Given the description of an element on the screen output the (x, y) to click on. 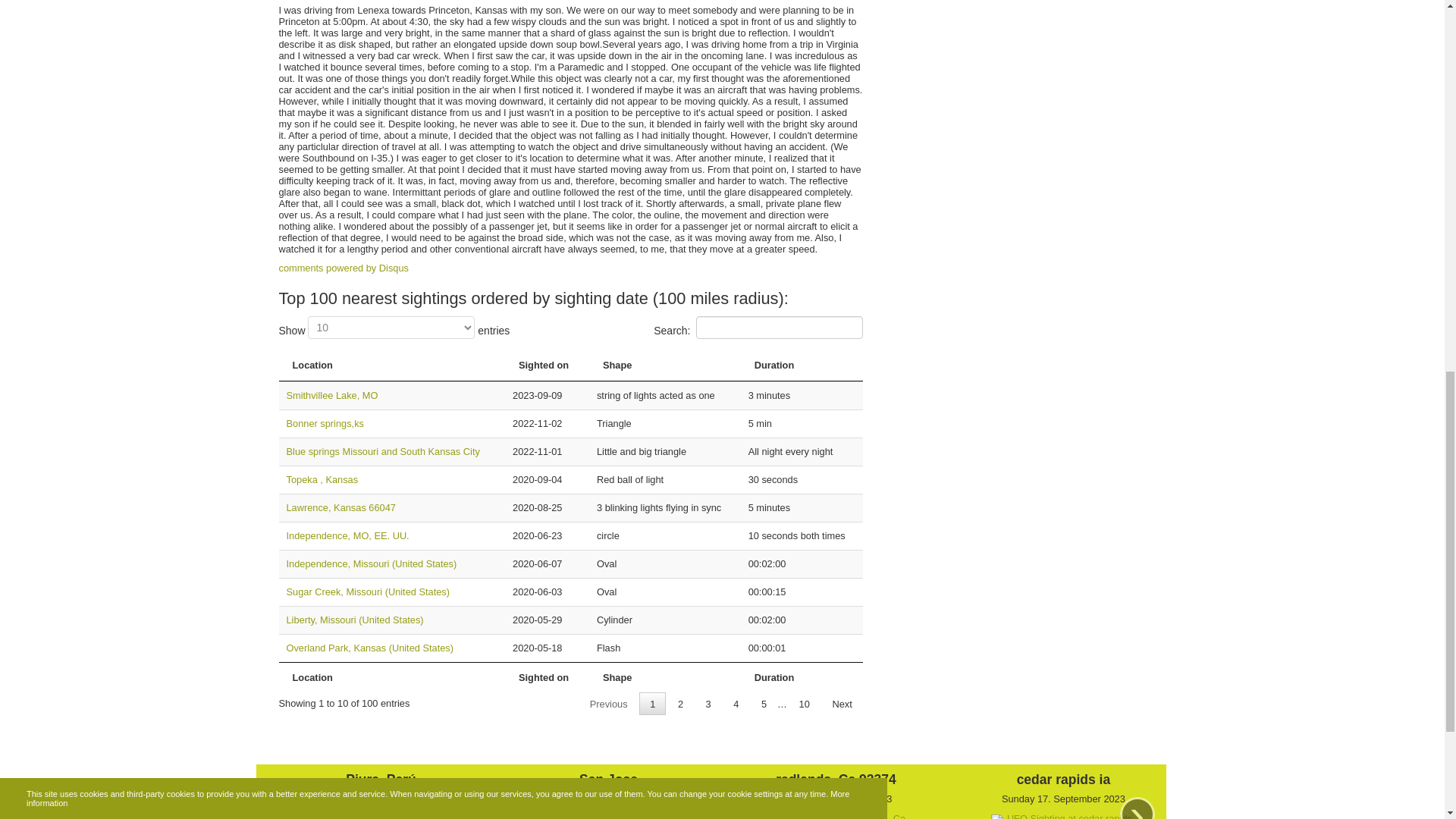
Smithvillee Lake, MO (332, 395)
Independence, MO, EE. UU. (347, 535)
close message (864, 2)
Bonner springs,ks (325, 423)
San Jose (607, 779)
redlands, Ca 92374 (835, 779)
cedar rapids ia (1063, 779)
comments powered by Disqus (344, 267)
Lawrence, Kansas 66047 (341, 507)
Blue springs Missouri and South Kansas City (383, 451)
Topeka , Kansas (322, 479)
